Given the description of an element on the screen output the (x, y) to click on. 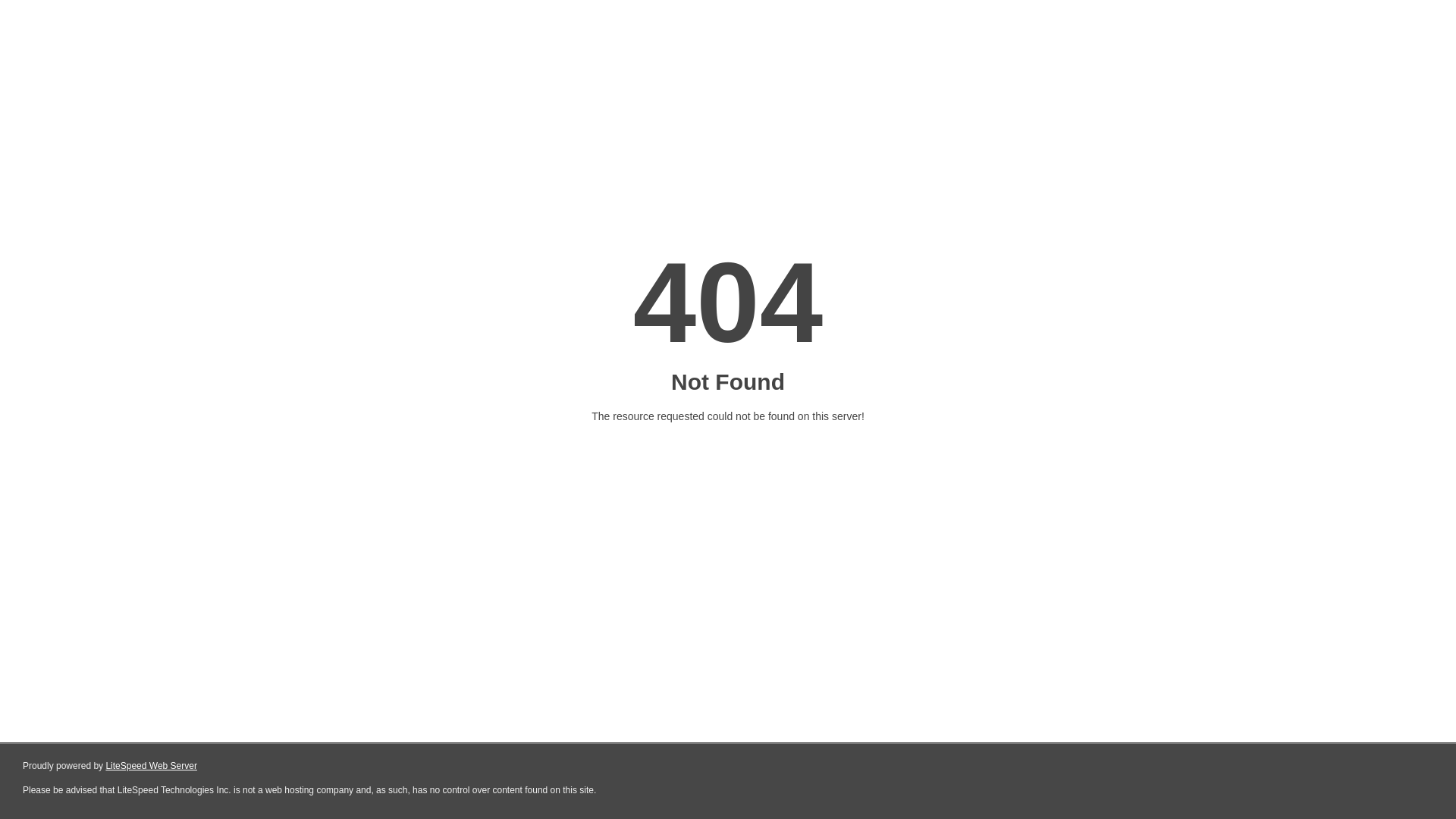
LiteSpeed Web Server Element type: text (151, 765)
